Given the description of an element on the screen output the (x, y) to click on. 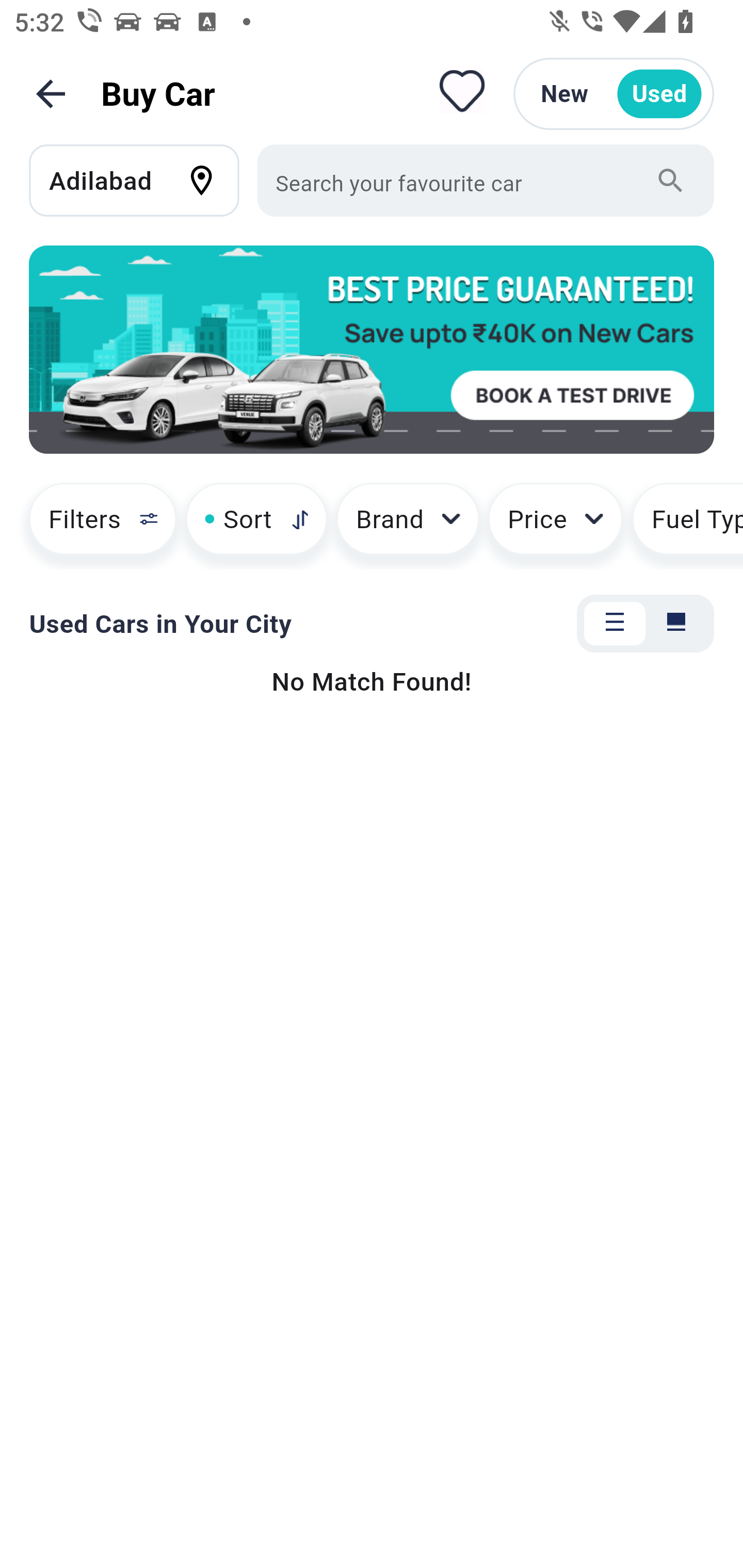
Back (50, 93)
New (564, 93)
Used (659, 93)
Adilabad (142, 180)
Filters (93, 525)
Sort (255, 525)
Brand (407, 525)
Price (555, 525)
Fuel Type (687, 525)
Tab 1 of 2 (614, 624)
Tab 2 of 2 (675, 624)
